Given the description of an element on the screen output the (x, y) to click on. 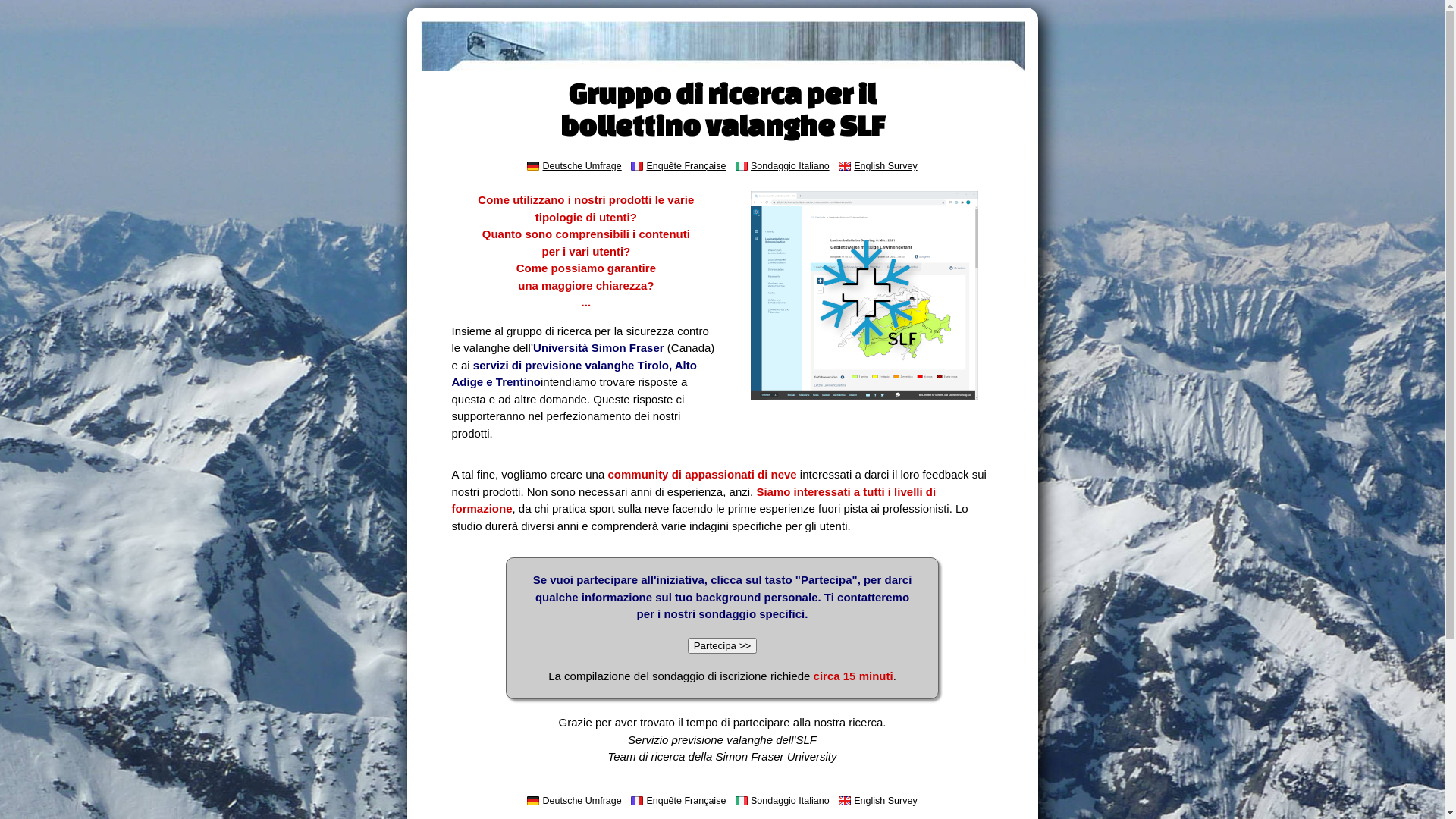
Sondaggio Italiano Element type: text (789, 800)
Deutsche Umfrage Element type: text (581, 800)
Partecipa >> Element type: text (722, 645)
English Survey Element type: text (884, 165)
English Survey Element type: text (884, 800)
Deutsche Umfrage Element type: text (581, 165)
Sondaggio Italiano Element type: text (789, 165)
